Given the description of an element on the screen output the (x, y) to click on. 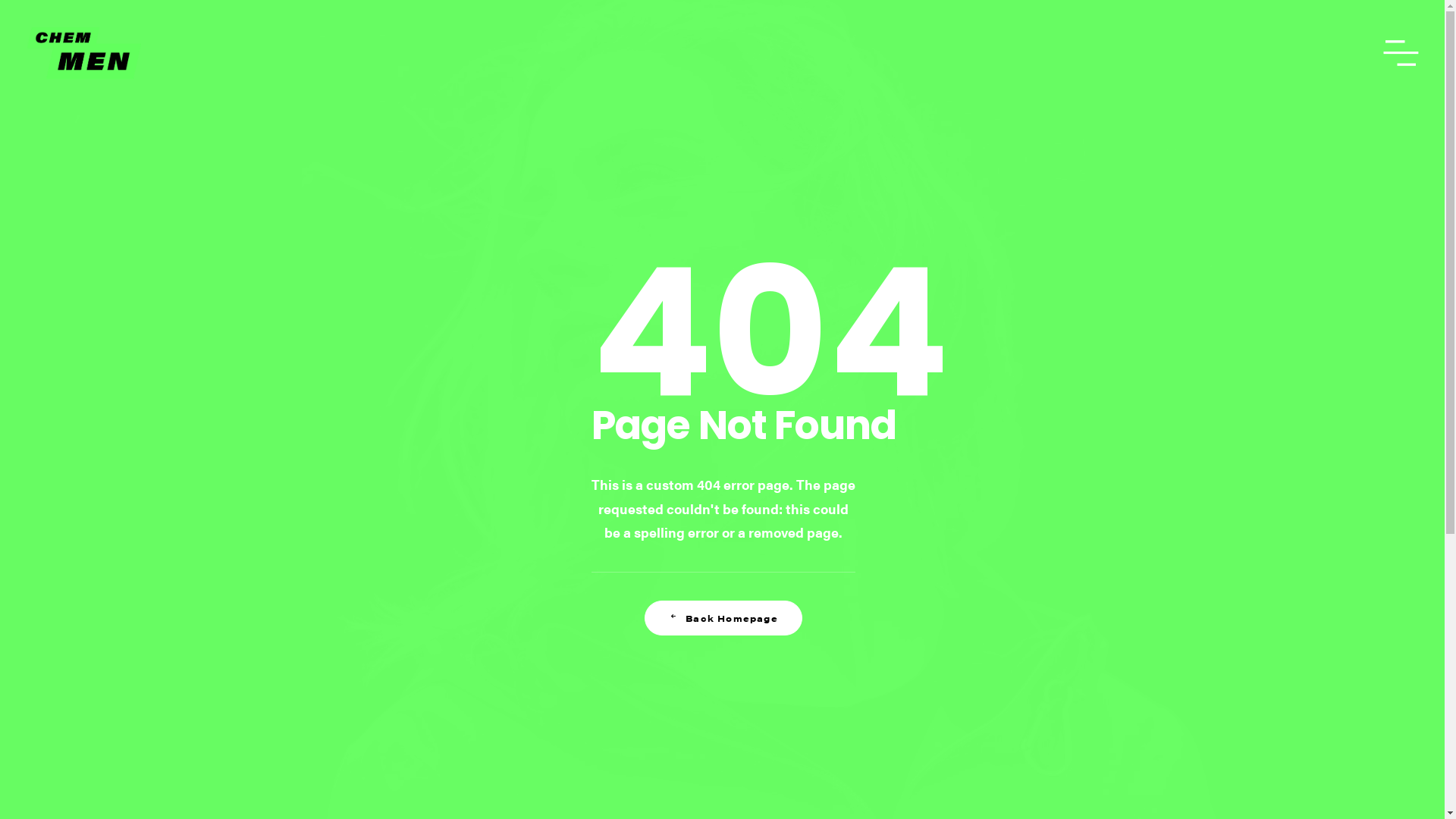
Back Homepage Element type: text (723, 617)
home Element type: hover (84, 52)
